Given the description of an element on the screen output the (x, y) to click on. 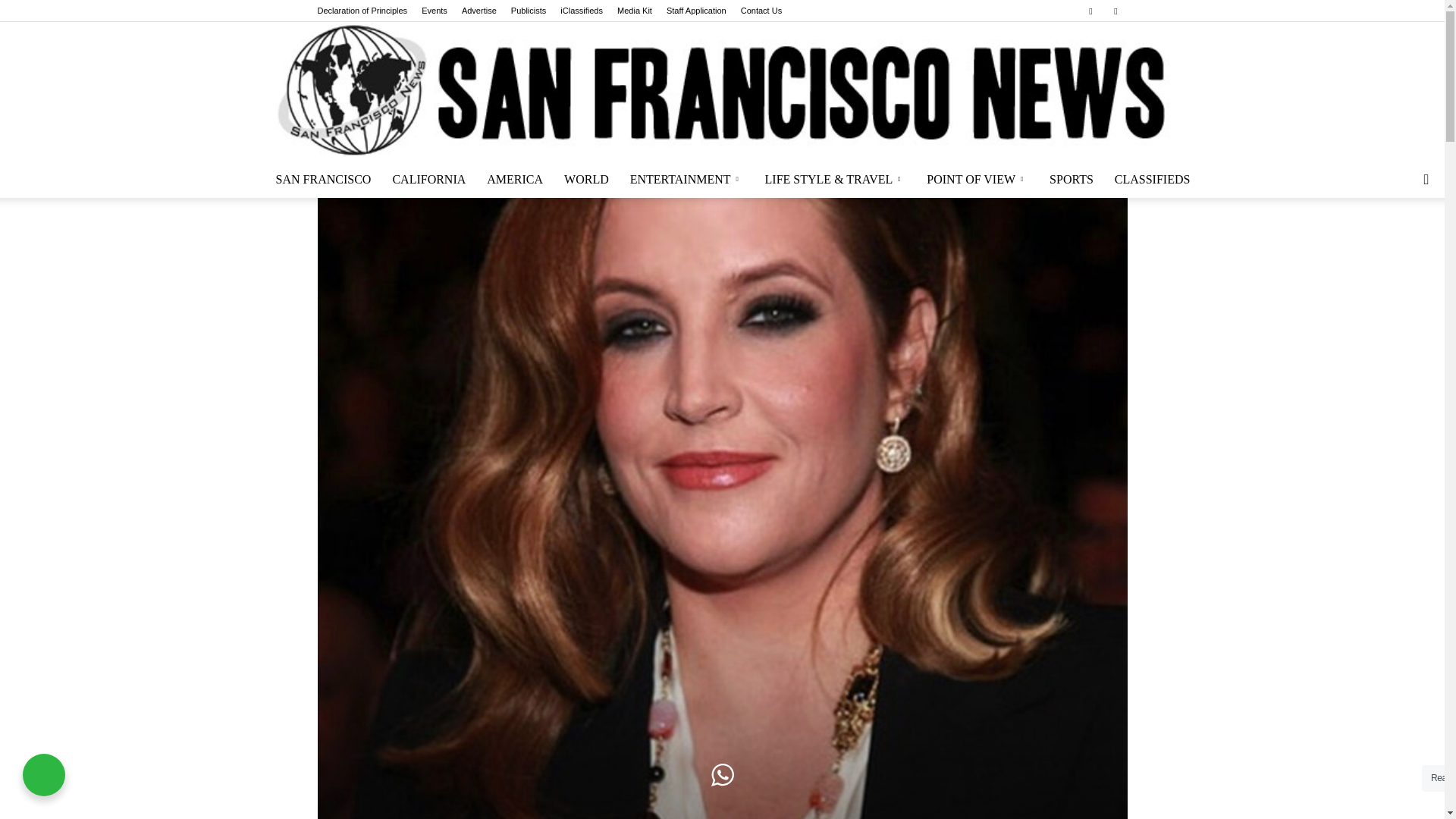
iClassifieds (581, 10)
Declaration of Principles (362, 10)
Media Kit (634, 10)
Contact Us (761, 10)
Facebook (1090, 10)
Advertise (478, 10)
Publicists (528, 10)
Events (434, 10)
Staff Application (696, 10)
Twitter (1114, 10)
